Given the description of an element on the screen output the (x, y) to click on. 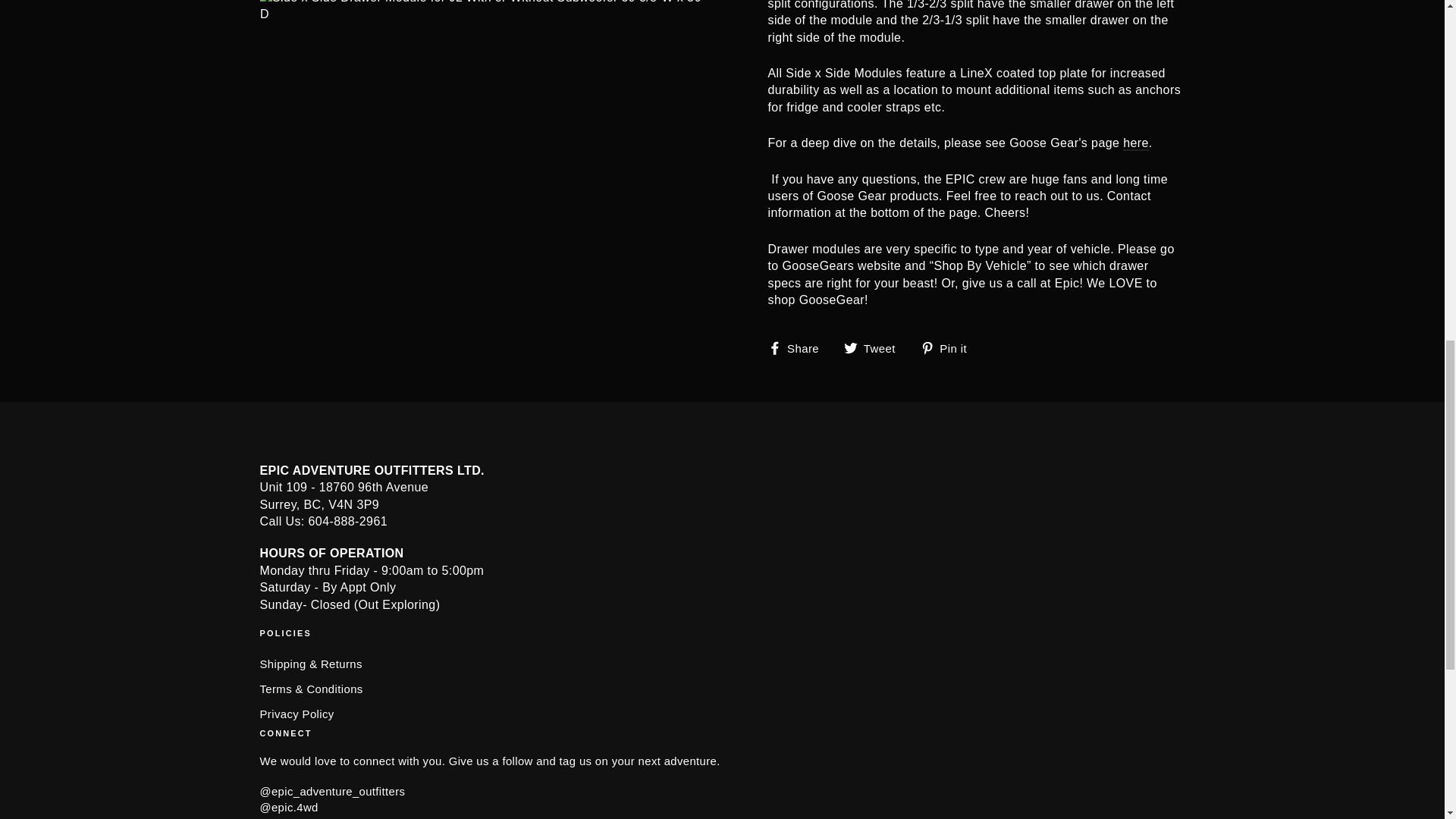
Tweet on Twitter (875, 347)
Pin on Pinterest (949, 347)
Share on Facebook (798, 347)
